Given the description of an element on the screen output the (x, y) to click on. 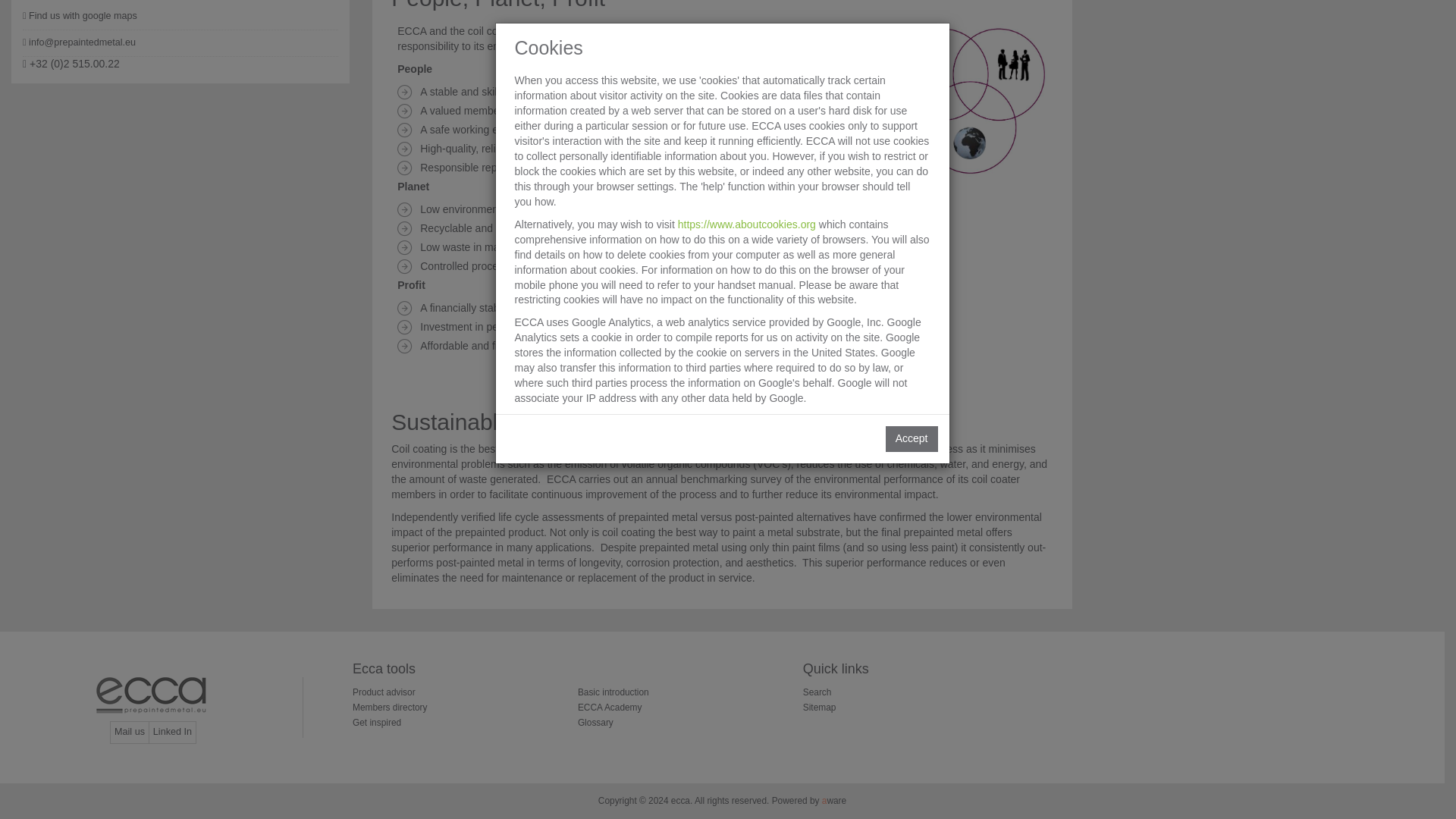
Find us with google maps (180, 17)
